Given the description of an element on the screen output the (x, y) to click on. 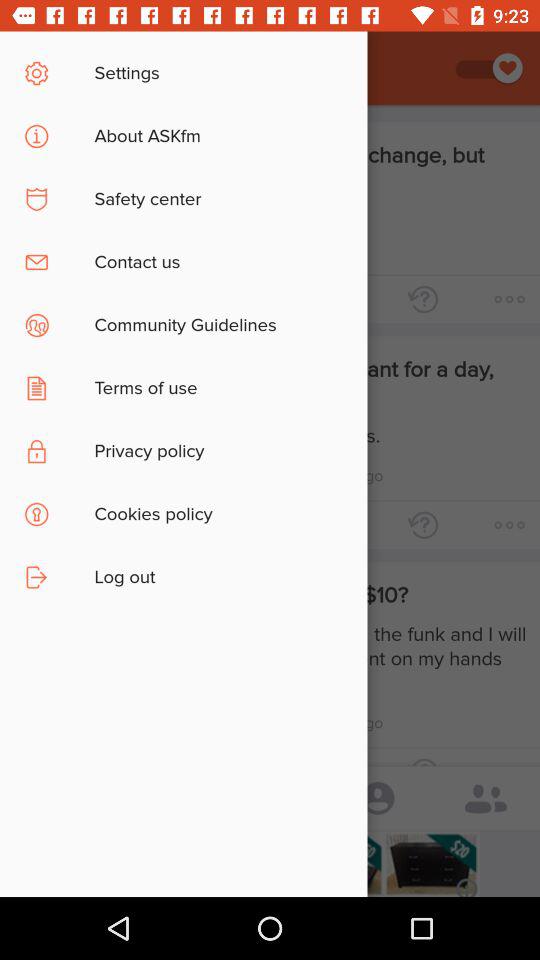
select the option below cookies policy (279, 588)
select the horizontal three dots (509, 298)
